Given the description of an element on the screen output the (x, y) to click on. 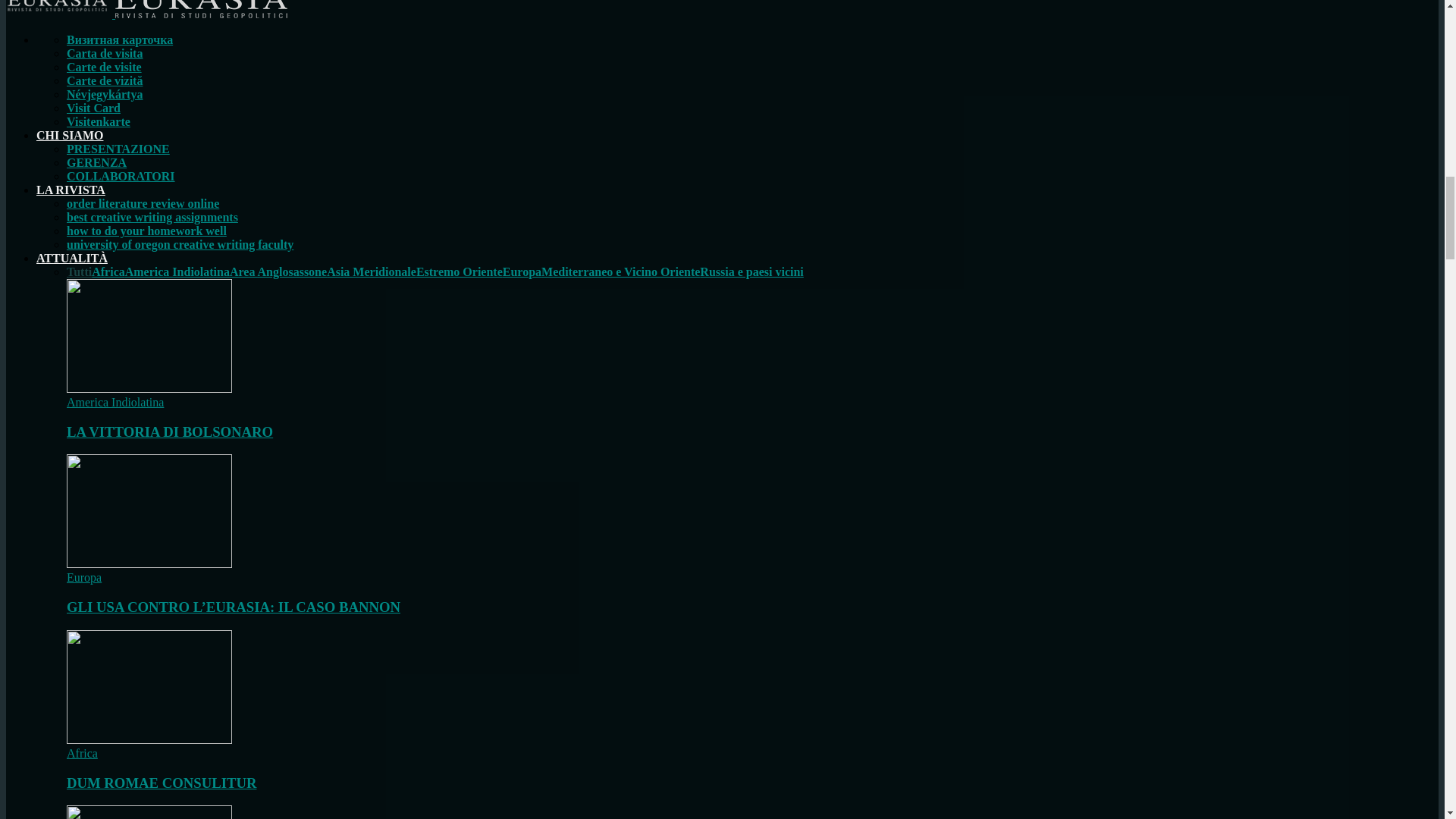
DUM ROMAE CONSULITUR (148, 686)
DUM ROMAE CONSULITUR (148, 739)
LA VITTORIA DI BOLSONARO (169, 431)
LA VITTORIA DI BOLSONARO (148, 388)
LA VITTORIA DI BOLSONARO (148, 336)
DUM ROMAE CONSULITUR (161, 782)
NUOVI SCENARI GEOPOLITICI DEL CONFLITTO LIBICO (148, 812)
